Given the description of an element on the screen output the (x, y) to click on. 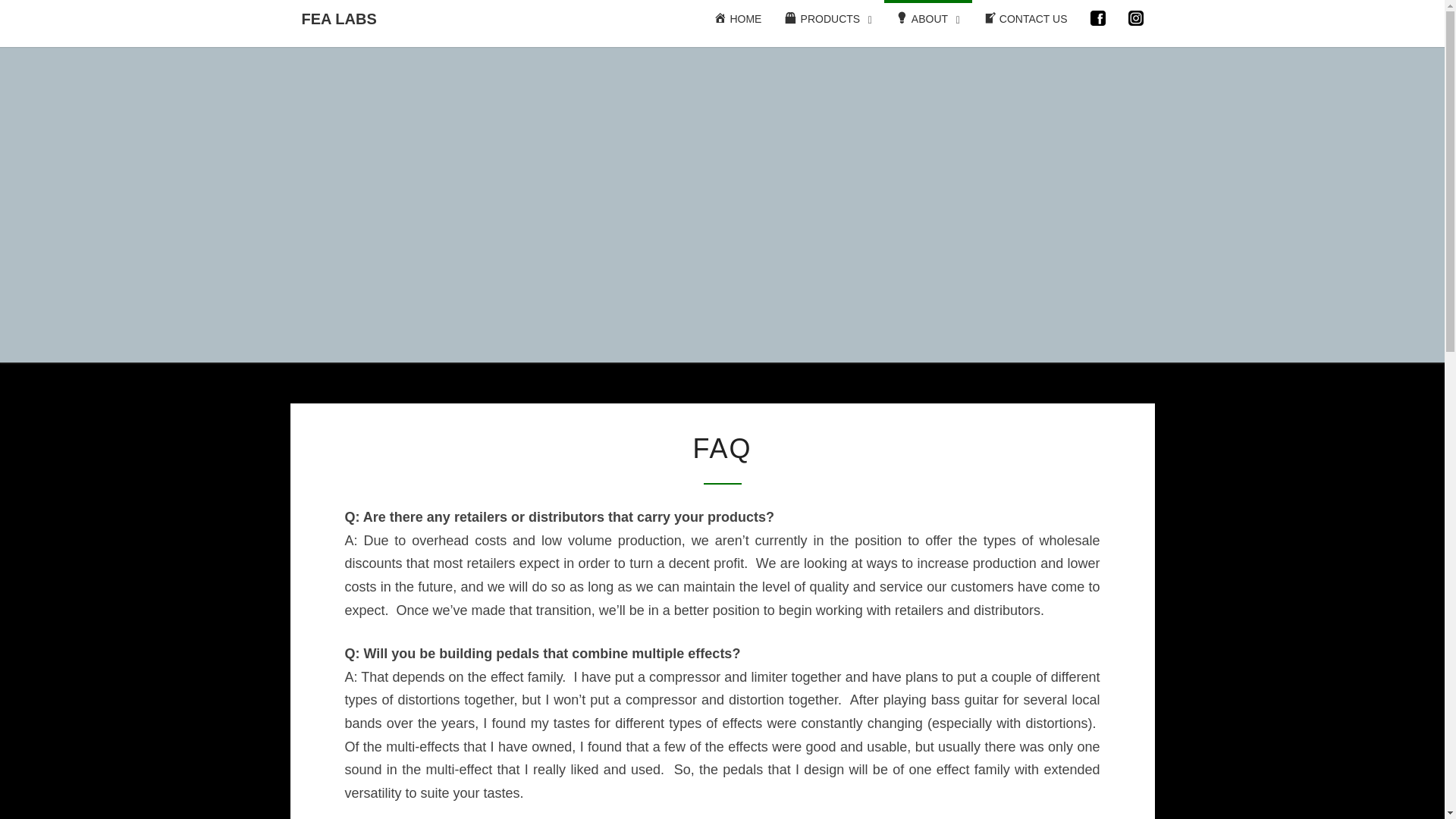
Instagram (1135, 17)
Facebook (1097, 17)
CONTACT US (1025, 19)
ABOUT (927, 19)
HOME (737, 19)
FEA LABS (338, 18)
PRODUCTS (828, 19)
